Given the description of an element on the screen output the (x, y) to click on. 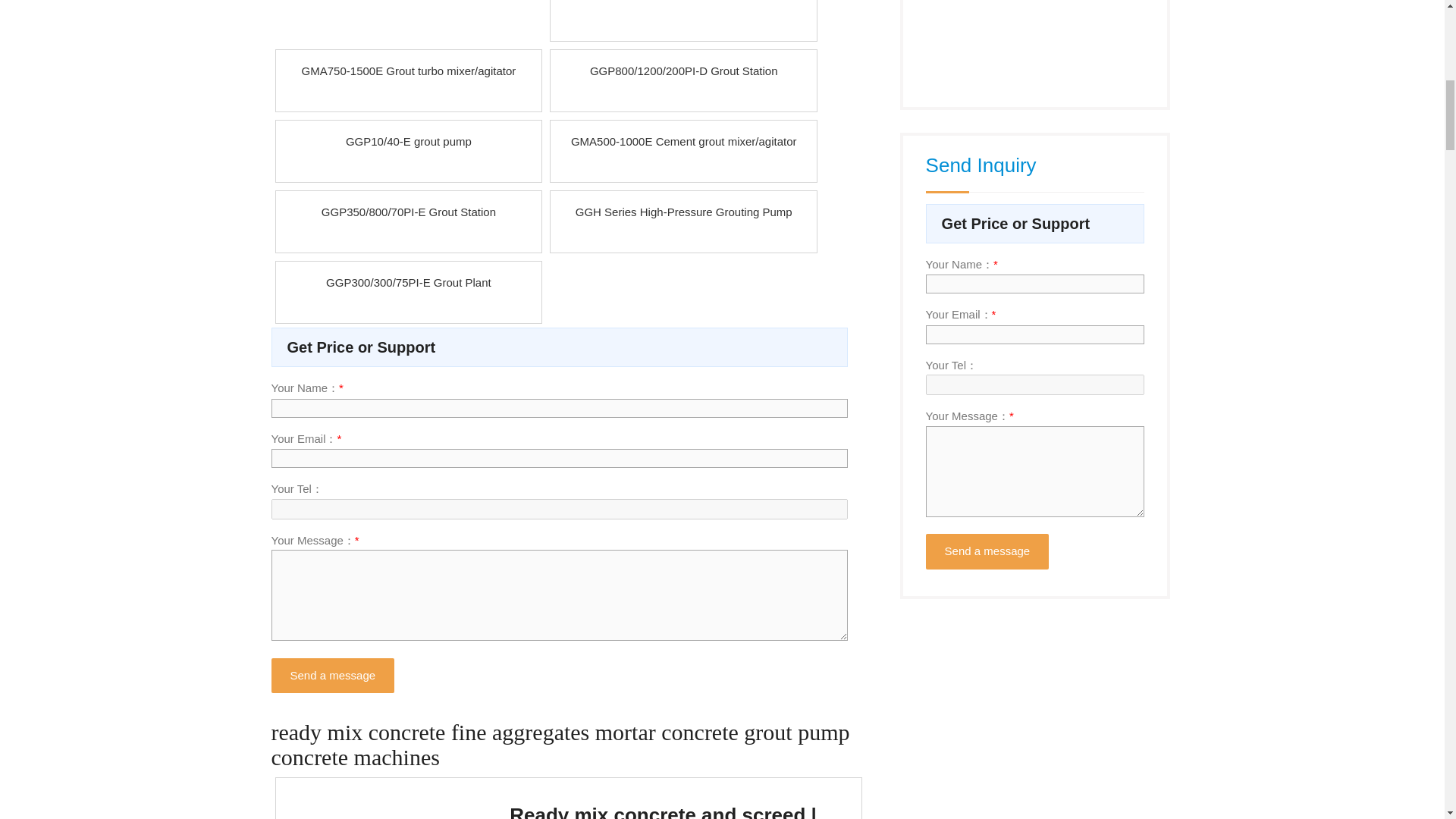
Send a message (987, 551)
Send a message (332, 675)
